Given the description of an element on the screen output the (x, y) to click on. 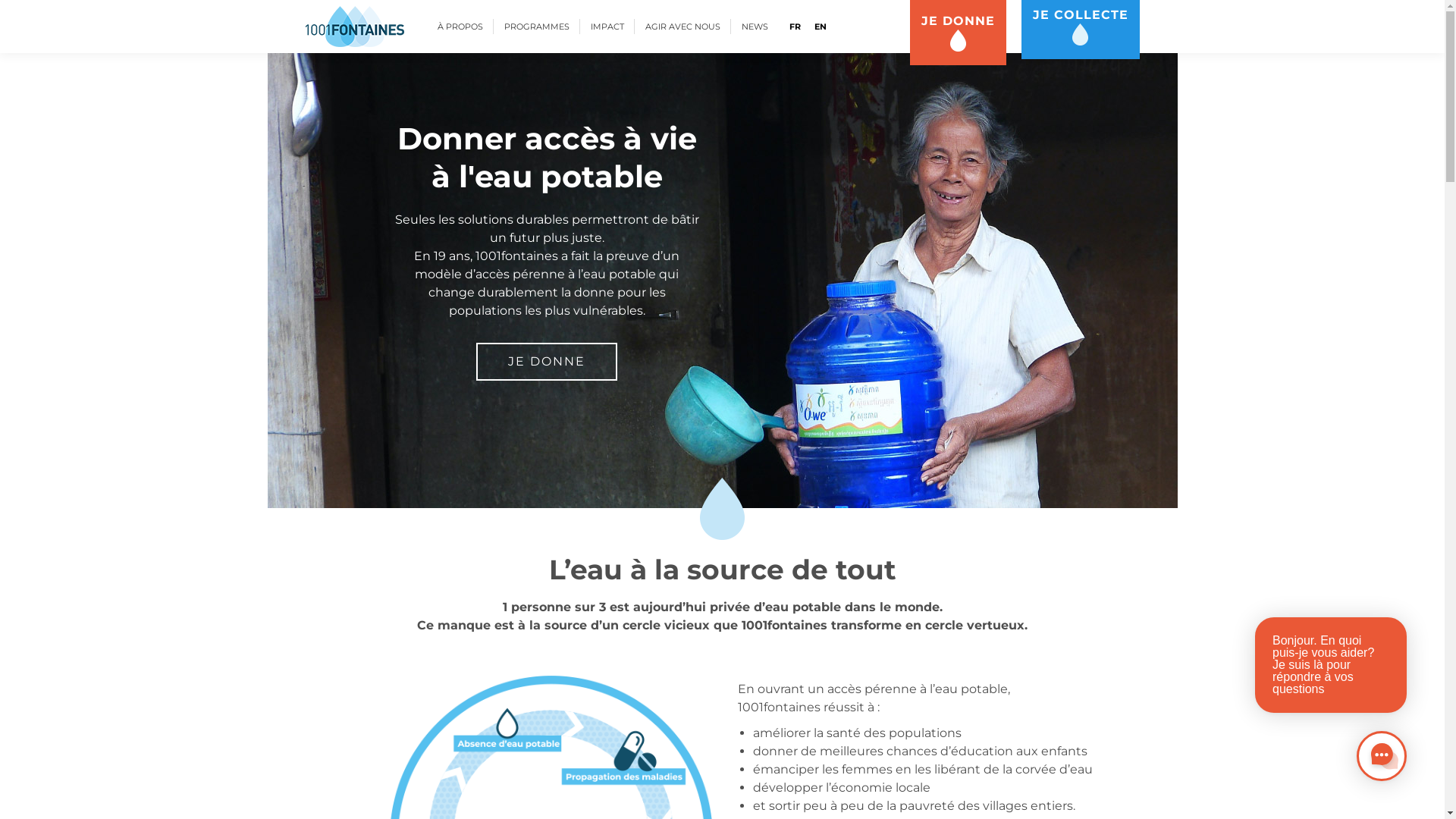
JE DONNE Element type: text (546, 361)
EN Element type: text (820, 26)
IMPACT Element type: text (606, 26)
FR Element type: text (794, 26)
PROGRAMMES Element type: text (535, 26)
NEWS Element type: text (754, 26)
AGIR AVEC NOUS Element type: text (681, 26)
